Given the description of an element on the screen output the (x, y) to click on. 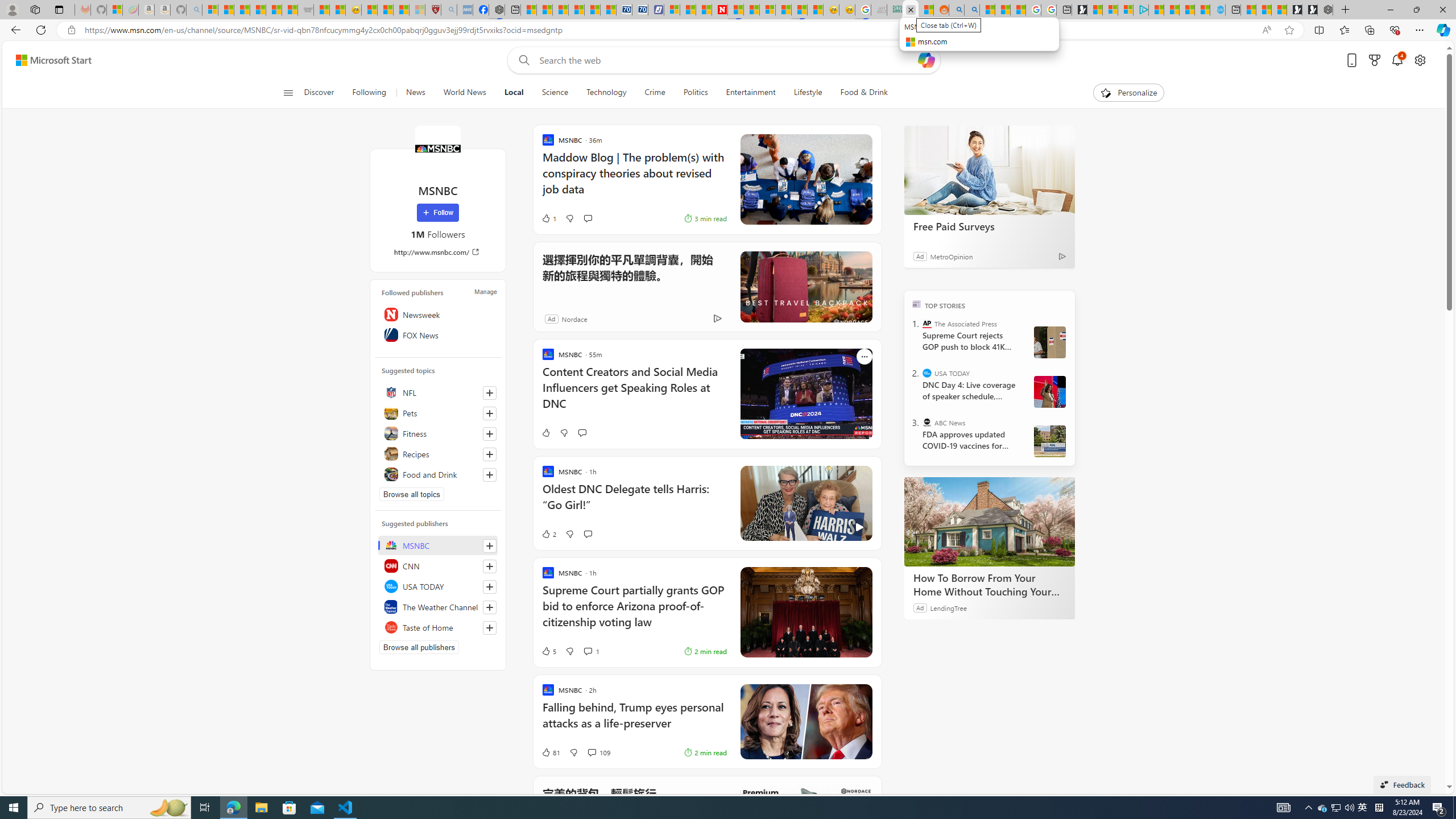
Utah sues federal government - Search (971, 9)
Recipes (437, 453)
TOP (916, 302)
ABC News (927, 422)
